Given the description of an element on the screen output the (x, y) to click on. 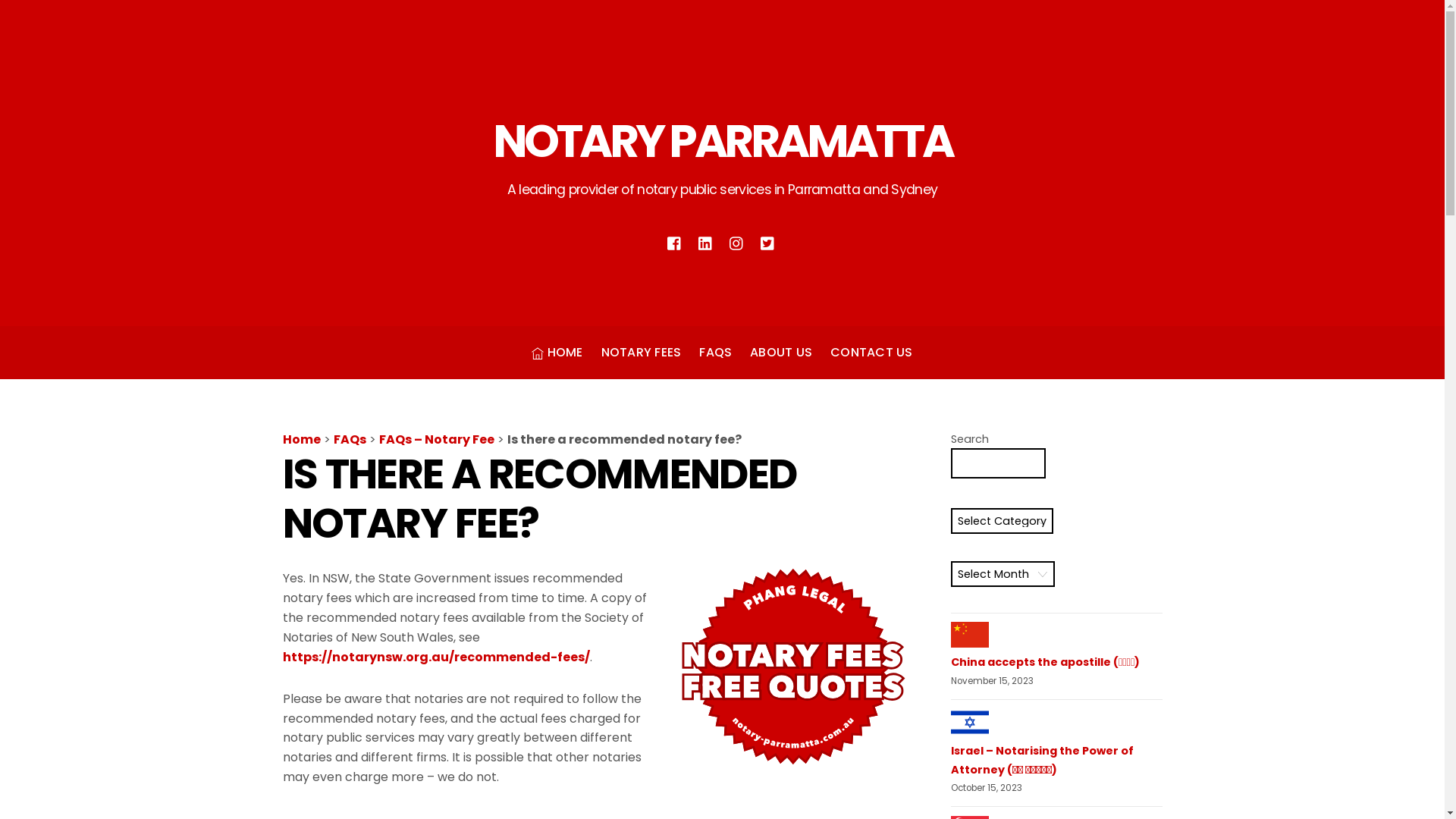
NOTARY PARRAMATTA Element type: text (722, 140)
FAQS Element type: text (715, 352)
CONTACT US Element type: text (871, 352)
HOME Element type: text (556, 352)
https://notarynsw.org.au/recommended-fees/ Element type: text (435, 656)
ABOUT US Element type: text (780, 352)
NOTARY FEES Element type: text (641, 352)
Home Element type: text (301, 439)
FAQs Element type: text (349, 439)
